Given the description of an element on the screen output the (x, y) to click on. 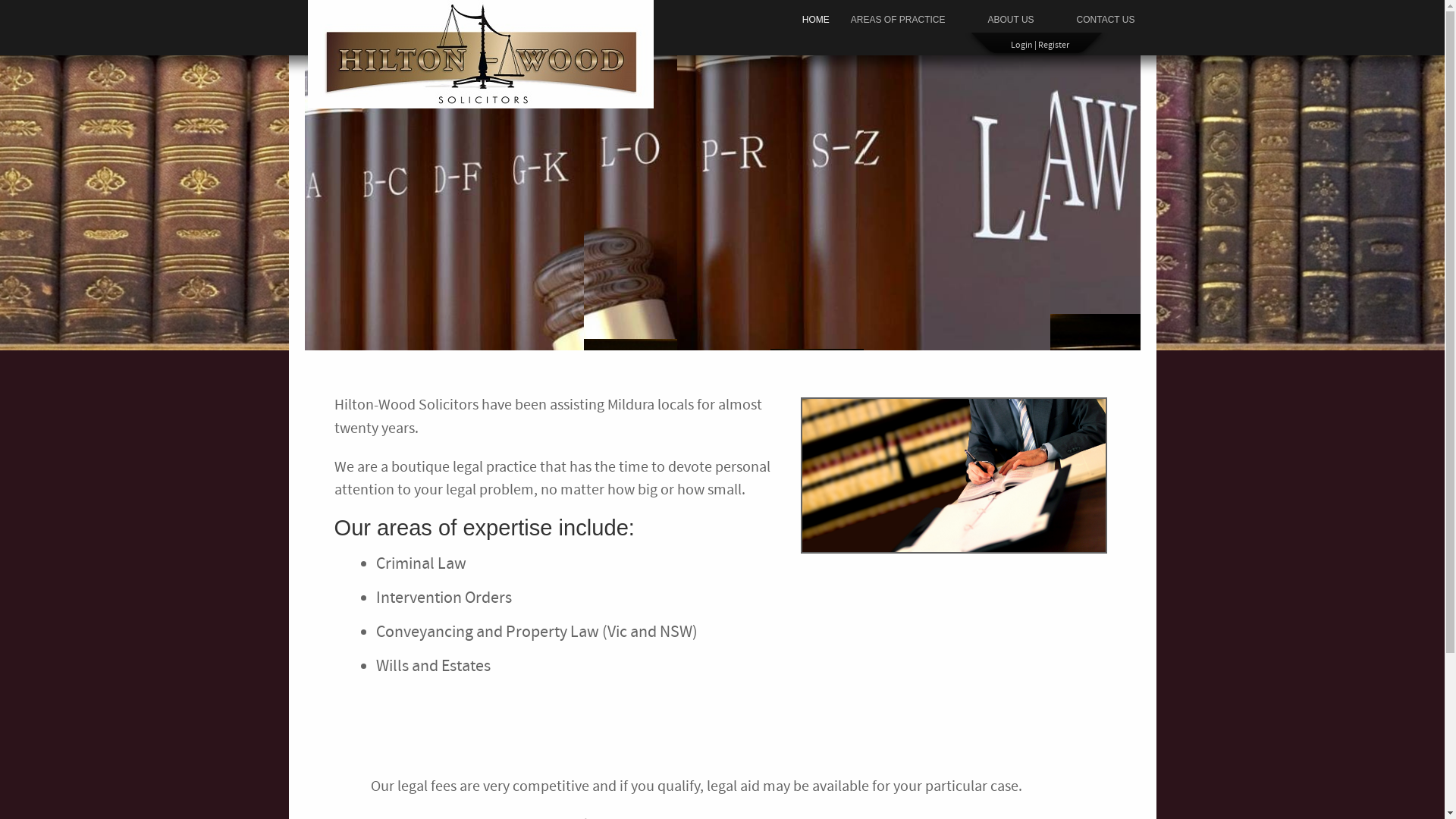
HOME Element type: text (815, 19)
CONTACT US Element type: text (1105, 19)
AREAS OF PRACTICE Element type: text (897, 19)
Hilton-Wood Element type: text (484, 58)
ABOUT US Element type: text (1010, 19)
